Given the description of an element on the screen output the (x, y) to click on. 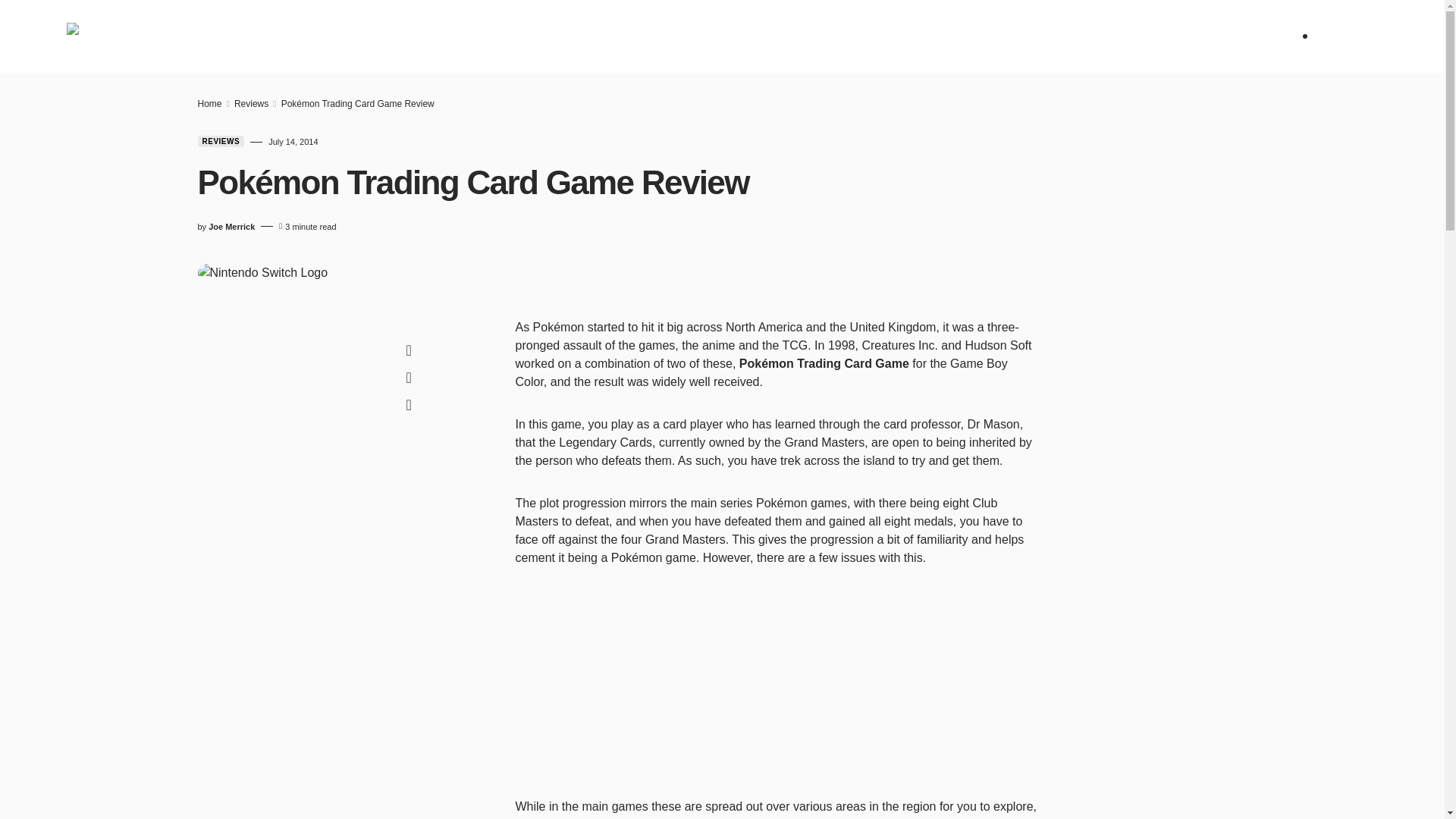
REVIEWS (411, 36)
INTERVIEWS (709, 36)
FEATURES (564, 36)
NEWS (349, 36)
Previews (486, 36)
News (349, 36)
Features (564, 36)
PREVIEWS (486, 36)
HOME (296, 36)
GUIDES (634, 36)
